Given the description of an element on the screen output the (x, y) to click on. 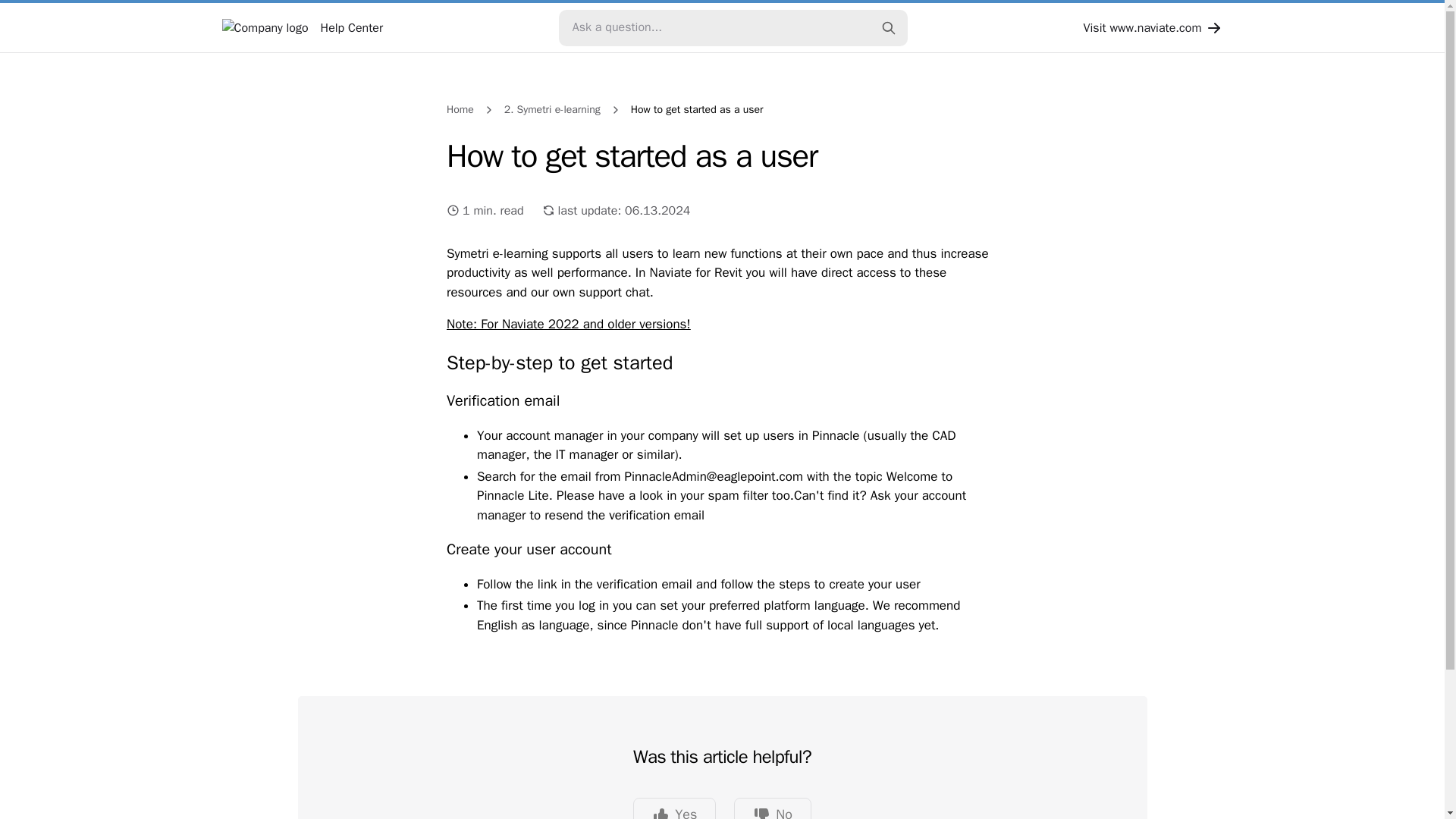
Home (460, 109)
Yes (674, 808)
2. Symetri e-learning (551, 109)
Help Center (301, 27)
No (771, 808)
Visit www.naviate.com (1153, 27)
